Given the description of an element on the screen output the (x, y) to click on. 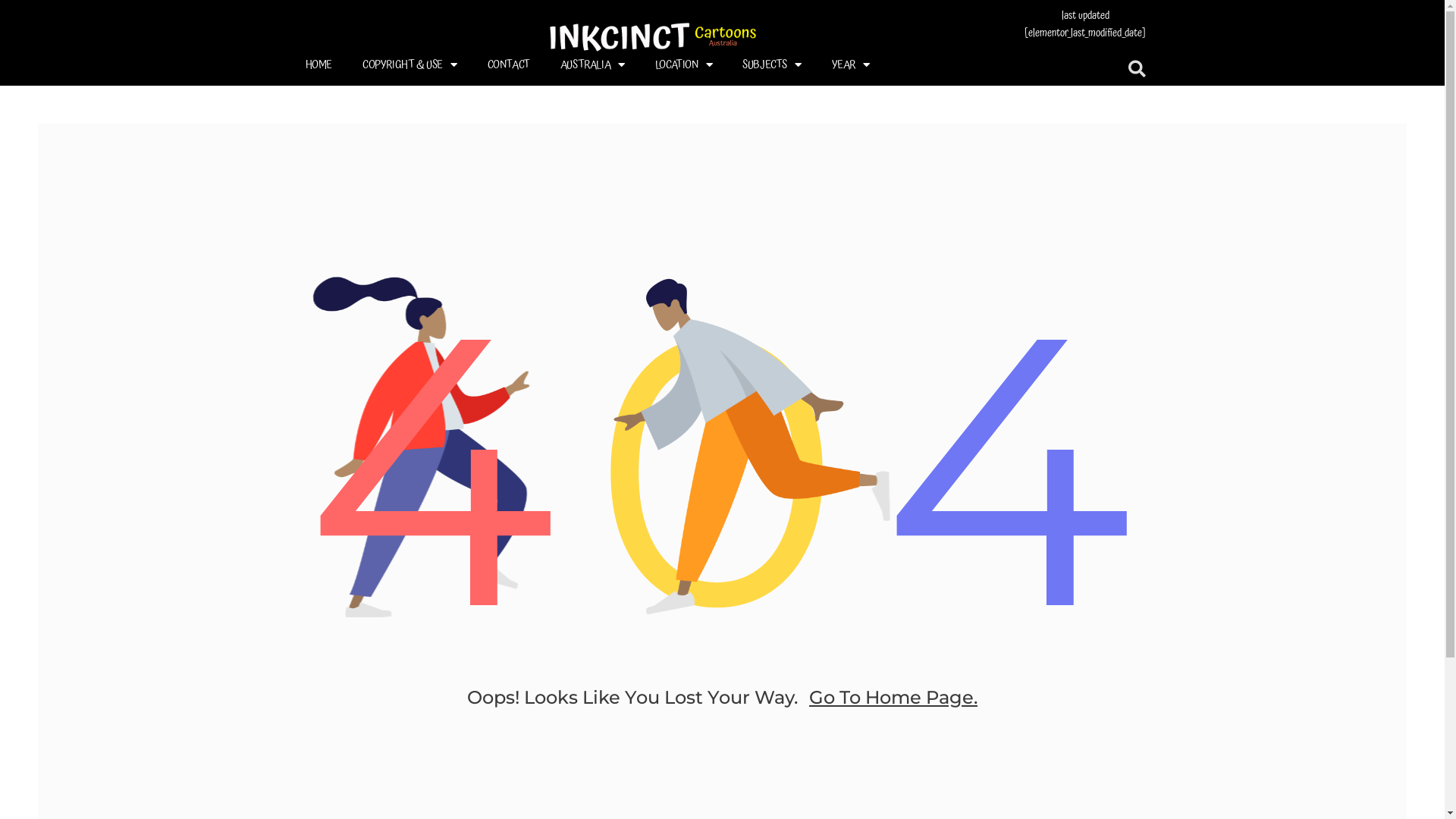
COPYRIGHT & USE Element type: text (409, 64)
SUBJECTS Element type: text (771, 64)
HOME Element type: text (317, 64)
Go To Home Page. Element type: text (893, 696)
LOCATION Element type: text (683, 64)
CONTACT Element type: text (508, 64)
AUSTRALIA Element type: text (592, 64)
YEAR Element type: text (850, 64)
